Given the description of an element on the screen output the (x, y) to click on. 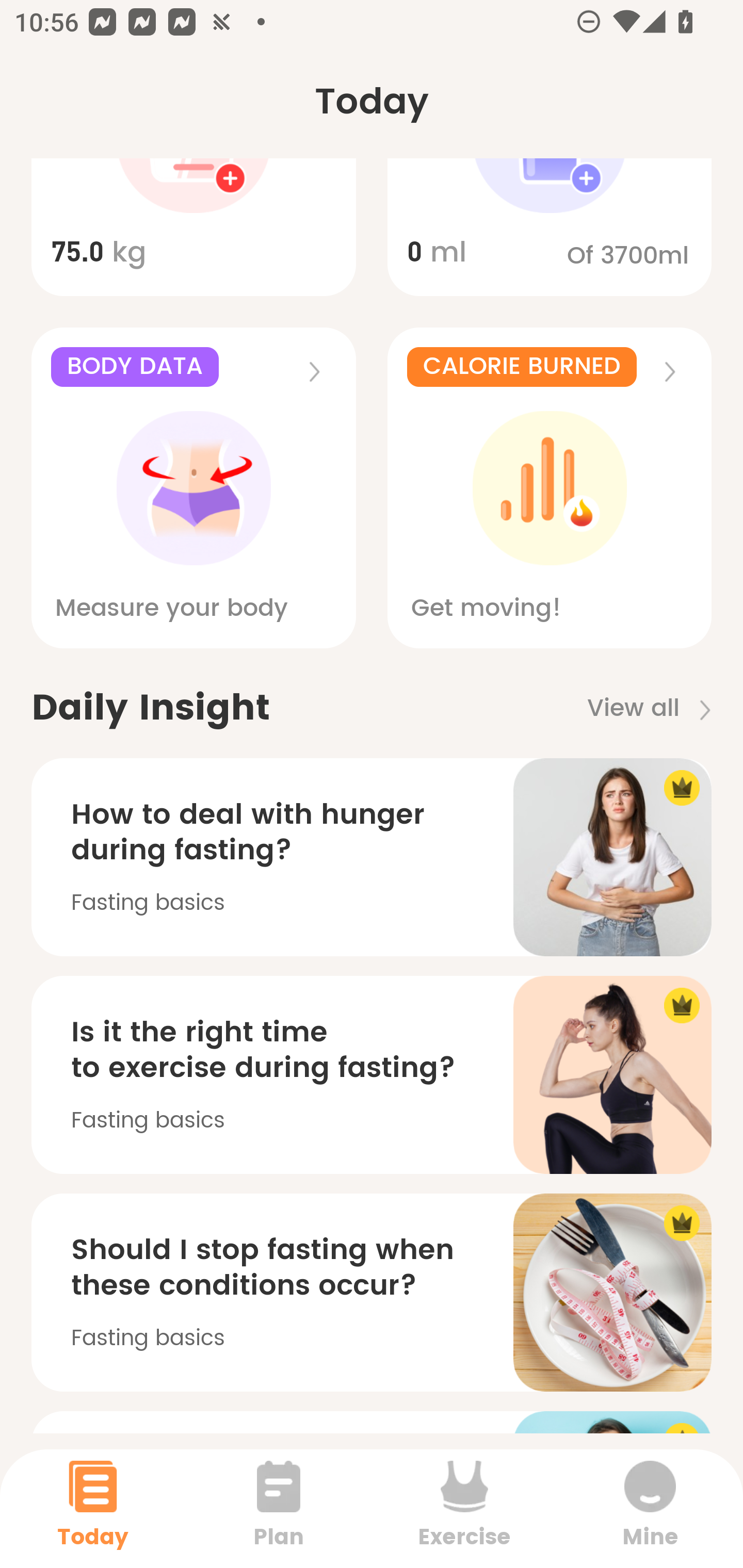
BODY DATA Measure your body (193, 487)
CALORIE BURNED Get moving! (549, 487)
View all (656, 708)
Plan (278, 1508)
Exercise (464, 1508)
Mine (650, 1508)
